Given the description of an element on the screen output the (x, y) to click on. 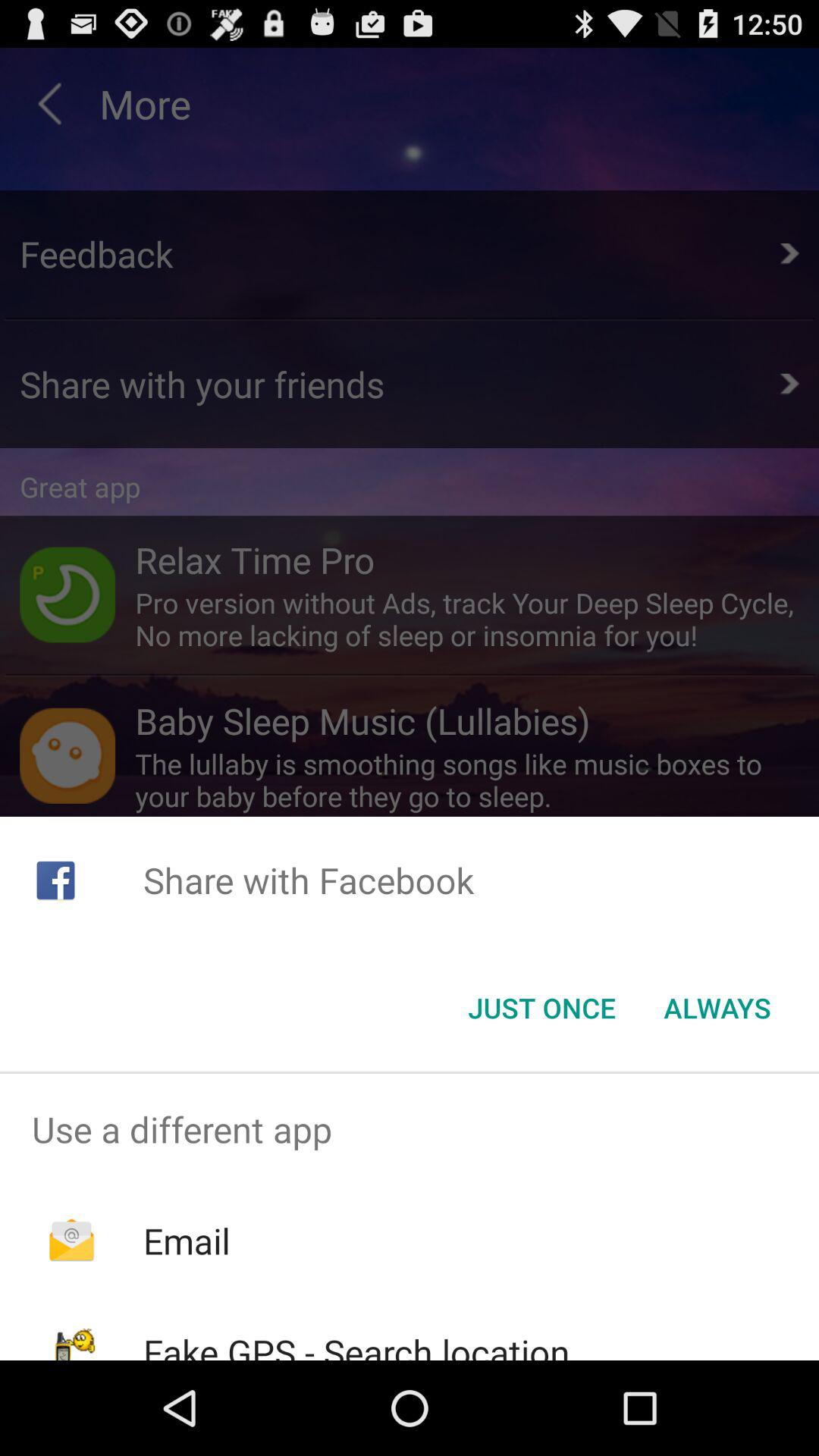
turn on the icon below the use a different icon (186, 1240)
